Given the description of an element on the screen output the (x, y) to click on. 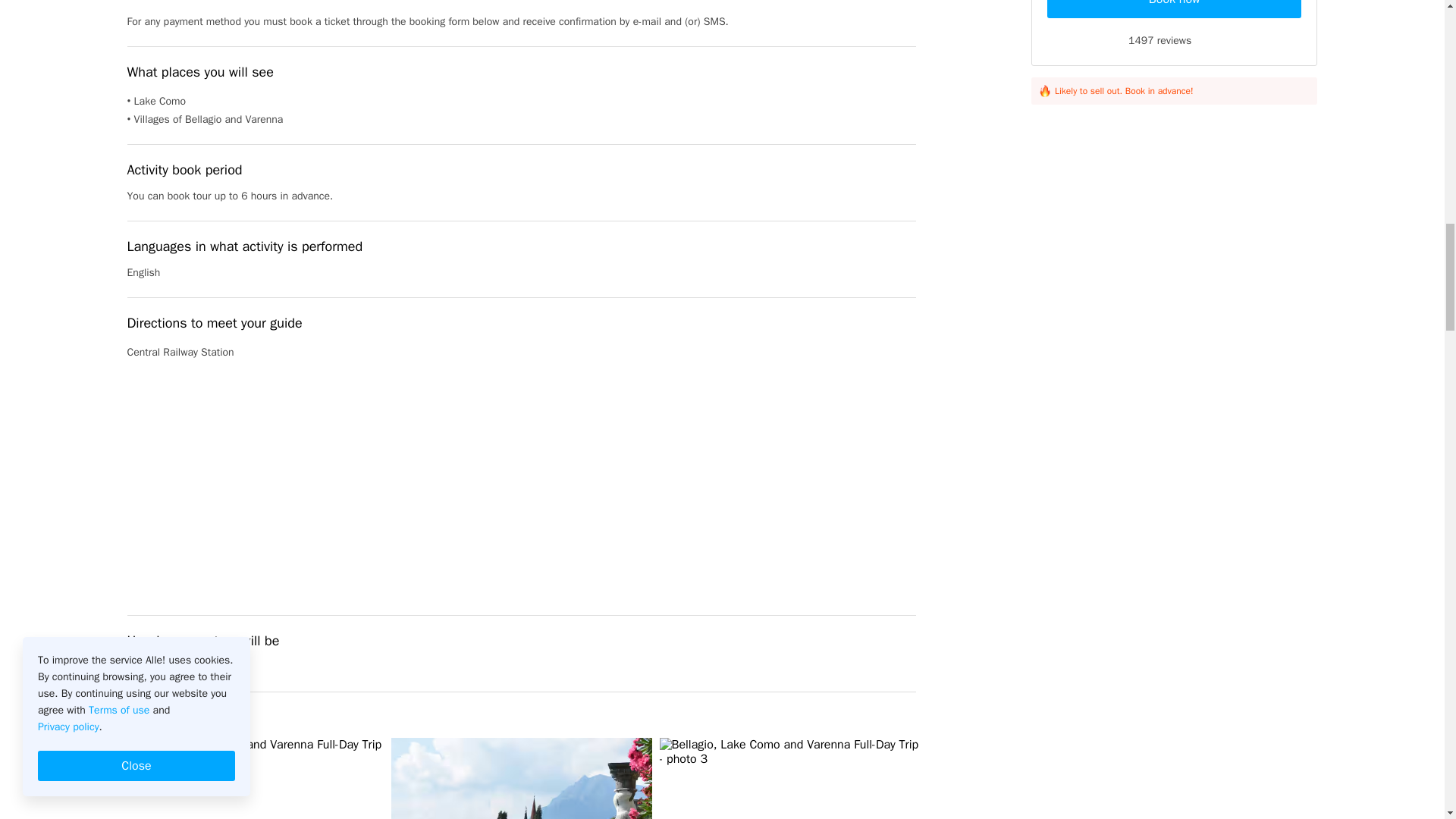
Bellagio, Lake Como and Varenna Full-Day Trip - photo 3 (789, 778)
Book now (1173, 9)
1497 reviews (1174, 40)
Bellagio, Lake Como and Varenna Full-Day Trip - photo 1 (253, 778)
Bellagio, Lake Como and Varenna Full-Day Trip - photo 2 (521, 778)
